Given the description of an element on the screen output the (x, y) to click on. 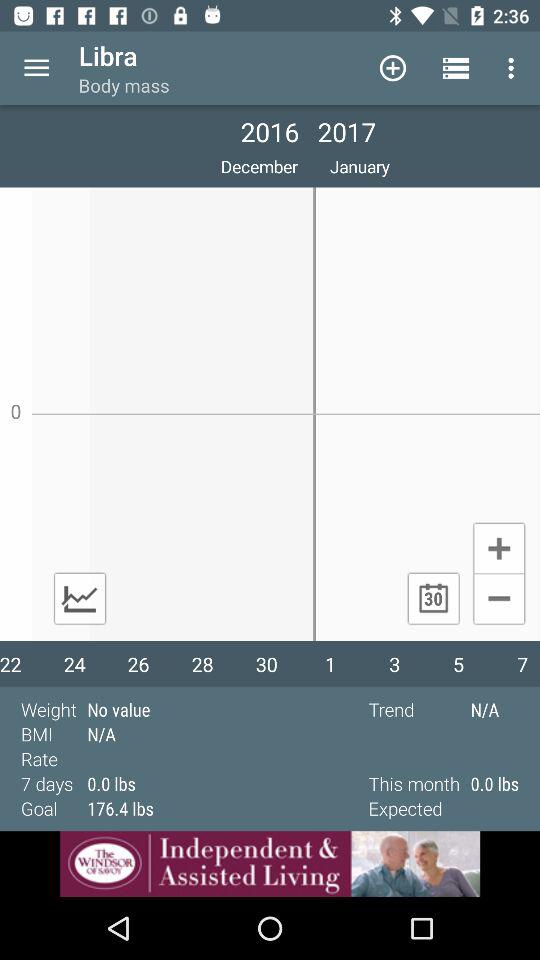
zoom out (498, 599)
